Given the description of an element on the screen output the (x, y) to click on. 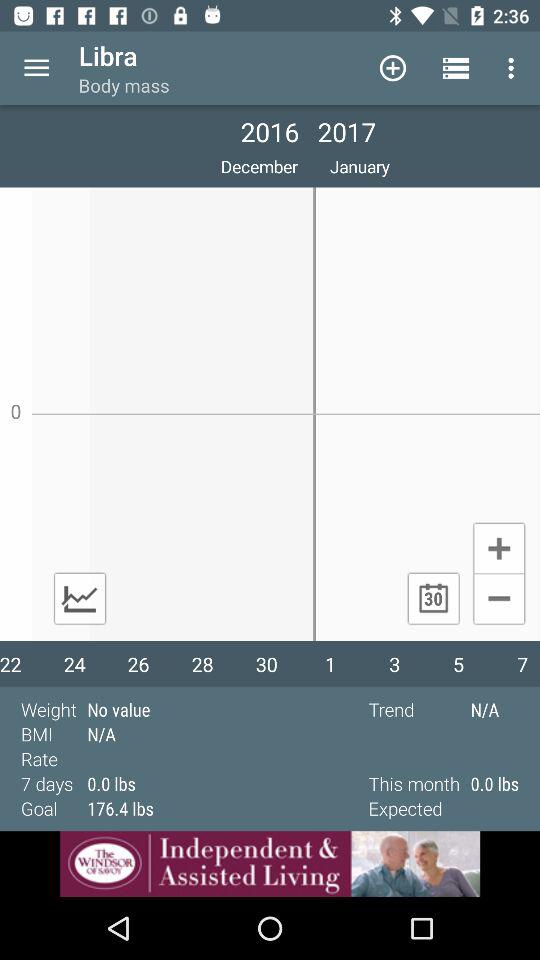
zoom out (498, 599)
